Given the description of an element on the screen output the (x, y) to click on. 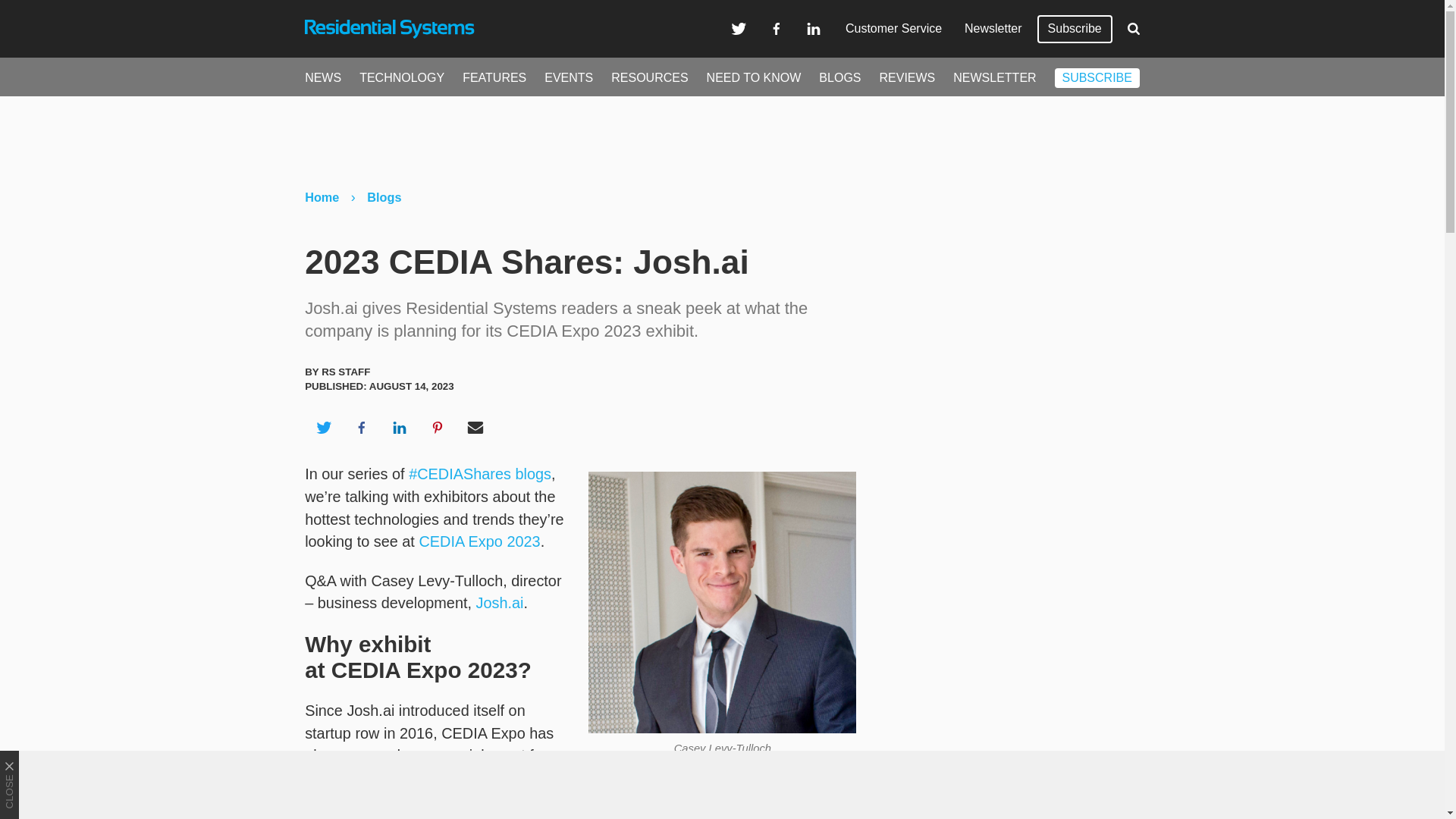
Share on Facebook (361, 427)
Share via Email (476, 427)
Share on LinkedIn (399, 427)
Share on Pinterest (438, 427)
Share on Twitter (323, 427)
